Given the description of an element on the screen output the (x, y) to click on. 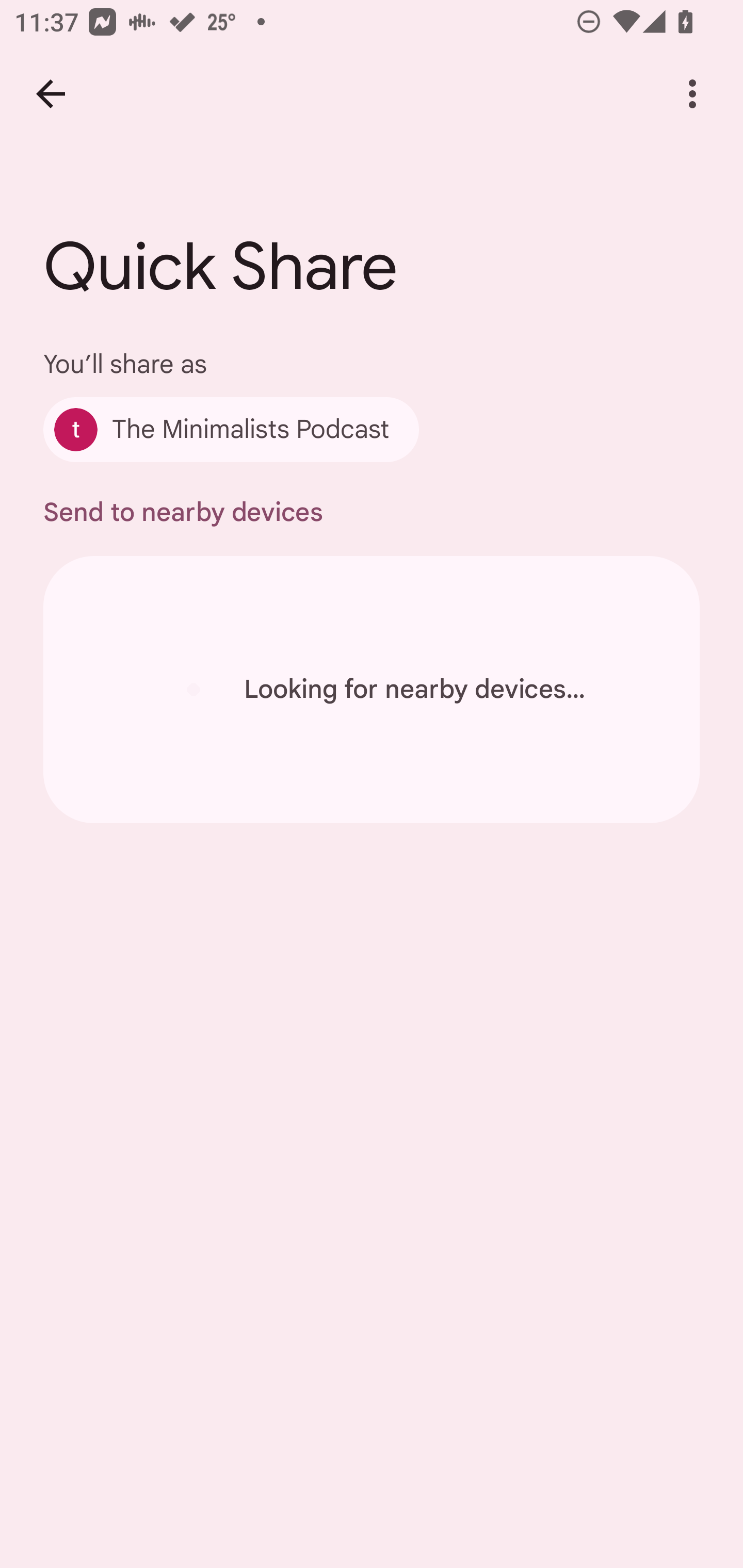
Back (50, 93)
More (692, 93)
The Minimalists Podcast (231, 429)
